Given the description of an element on the screen output the (x, y) to click on. 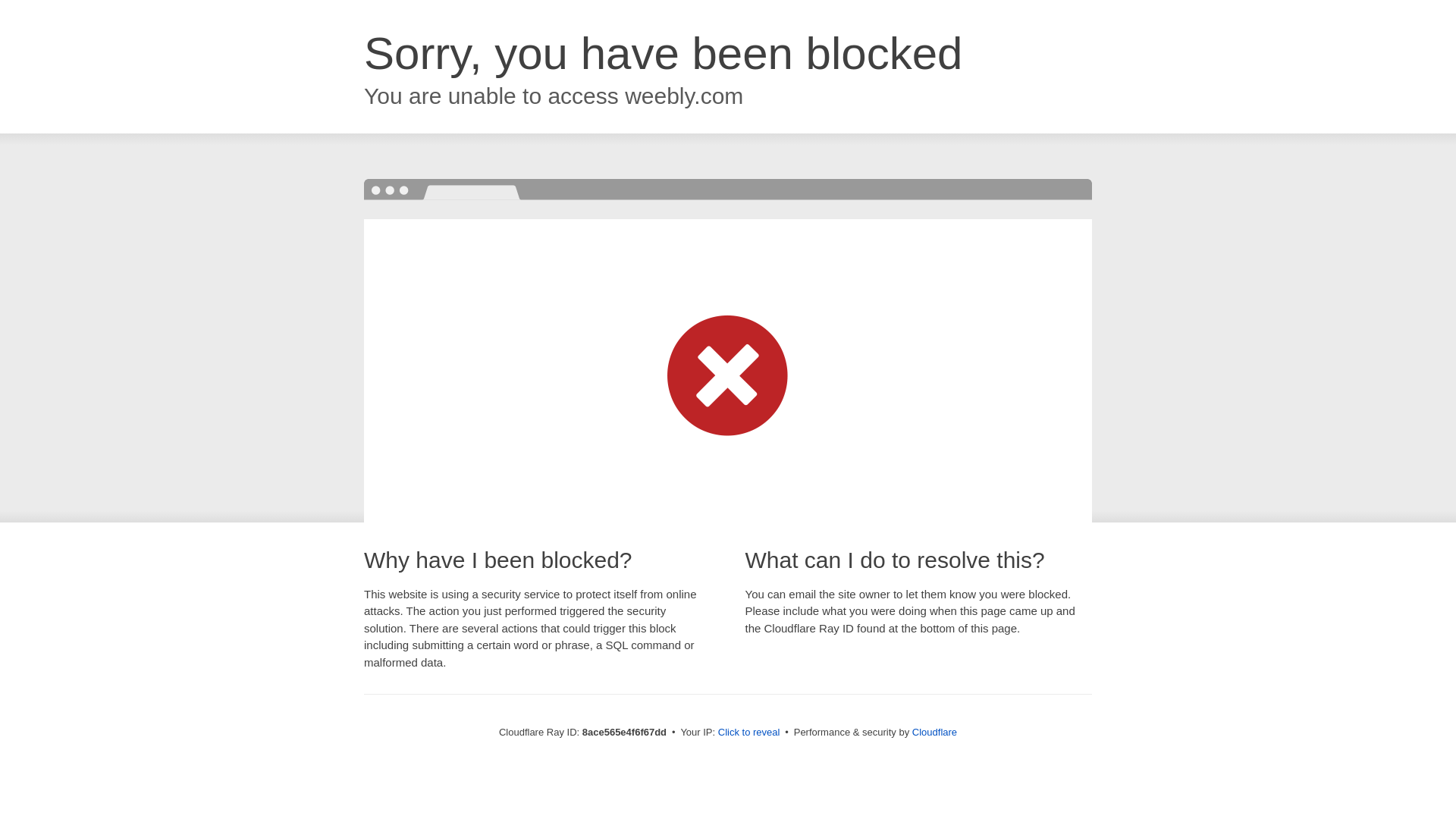
Click to reveal (748, 732)
Cloudflare (934, 731)
